Given the description of an element on the screen output the (x, y) to click on. 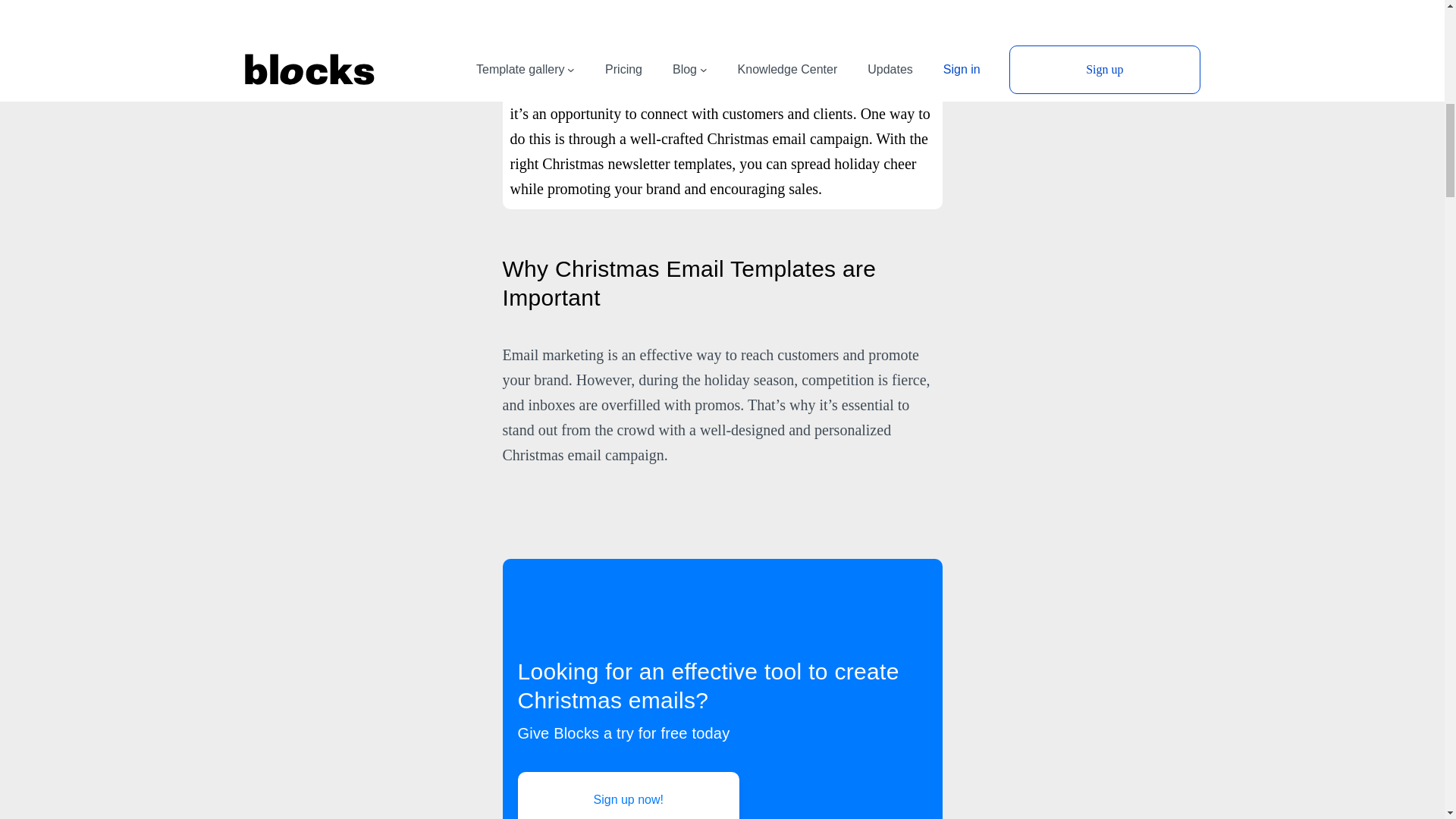
Christmas (272, 7)
Ecommerce (342, 7)
Reminder (532, 7)
Holidays (470, 7)
